Given the description of an element on the screen output the (x, y) to click on. 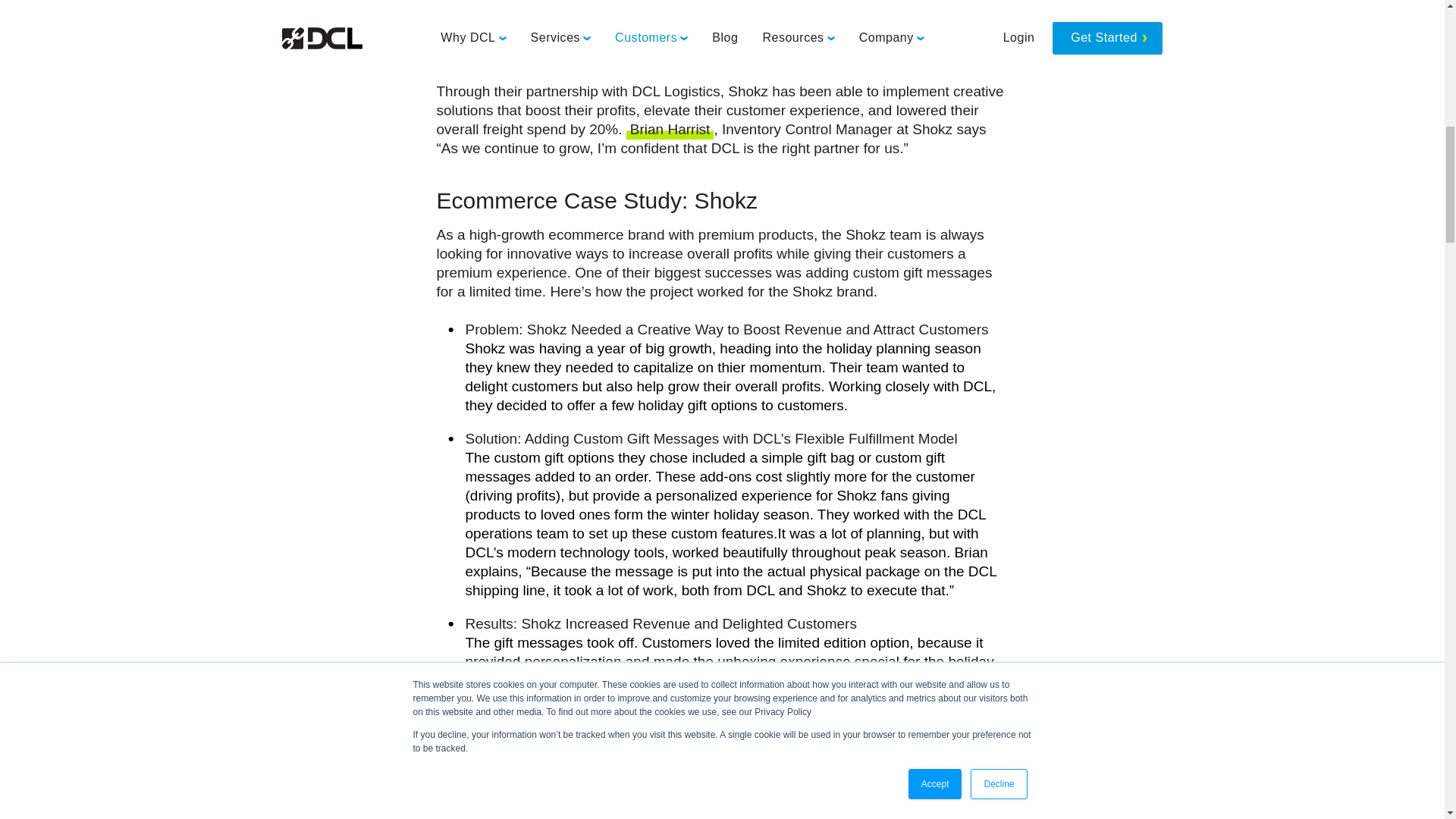
Brian Harrist (670, 130)
bone conduction technology (807, 3)
